Given the description of an element on the screen output the (x, y) to click on. 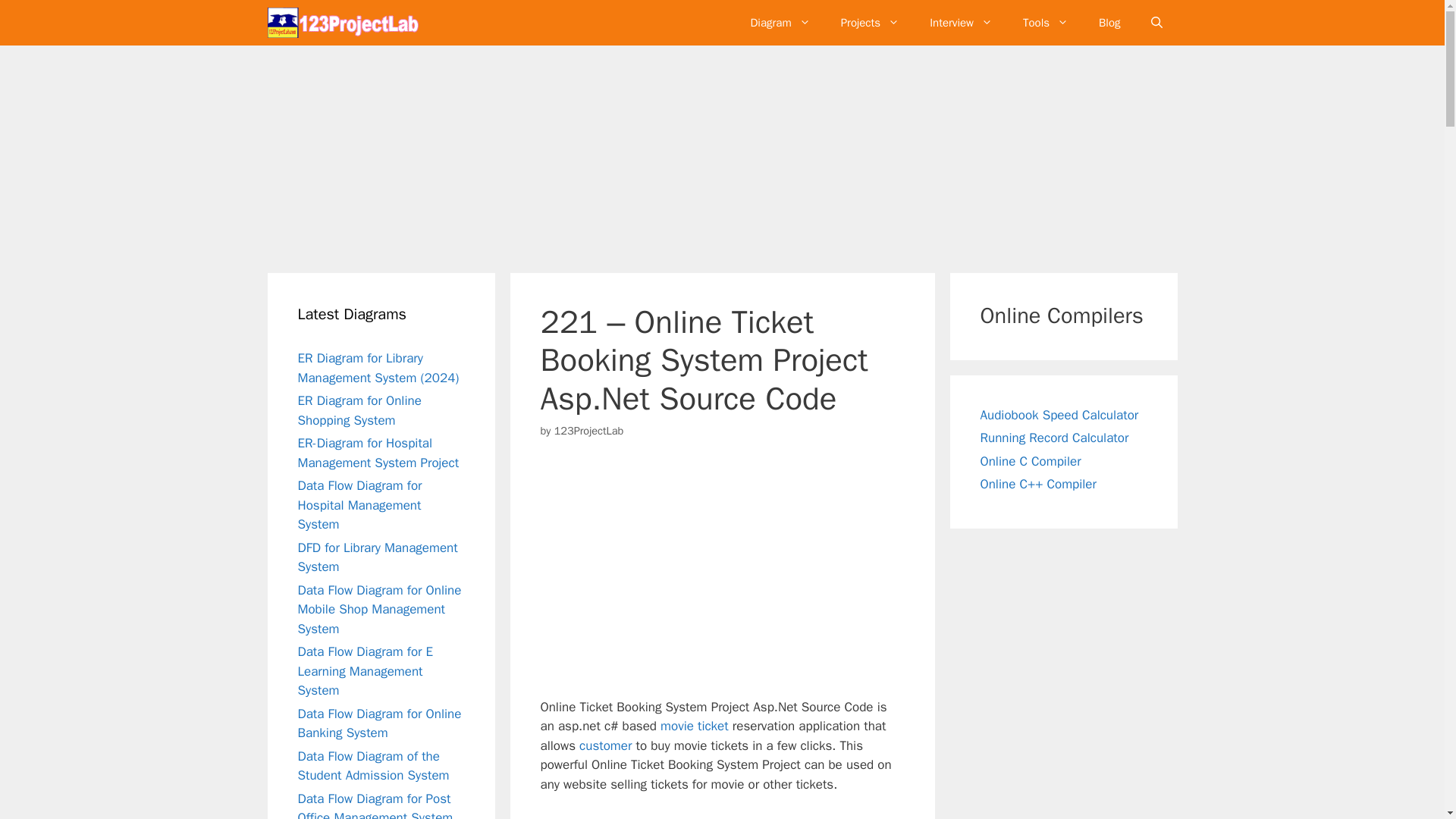
Projects (869, 22)
View all posts by 123ProjectLab (589, 430)
Diagram (780, 22)
123projectlab.com (346, 22)
123projectlab.com (342, 22)
Interview (960, 22)
Advertisement (739, 565)
